Given the description of an element on the screen output the (x, y) to click on. 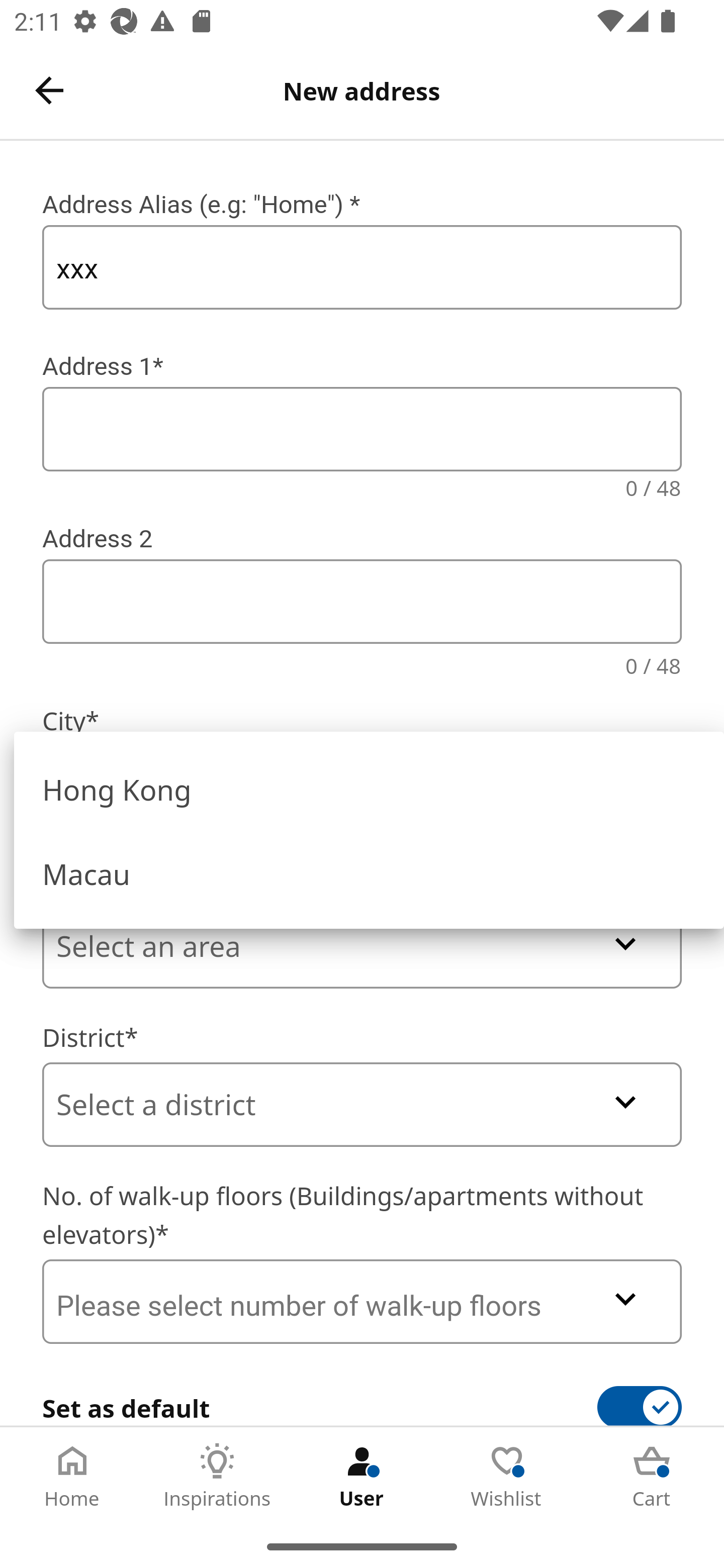
Hong Kong (368, 787)
Macau (368, 871)
Home
Tab 1 of 5 (72, 1476)
Inspirations
Tab 2 of 5 (216, 1476)
User
Tab 3 of 5 (361, 1476)
Wishlist
Tab 4 of 5 (506, 1476)
Cart
Tab 5 of 5 (651, 1476)
